Given the description of an element on the screen output the (x, y) to click on. 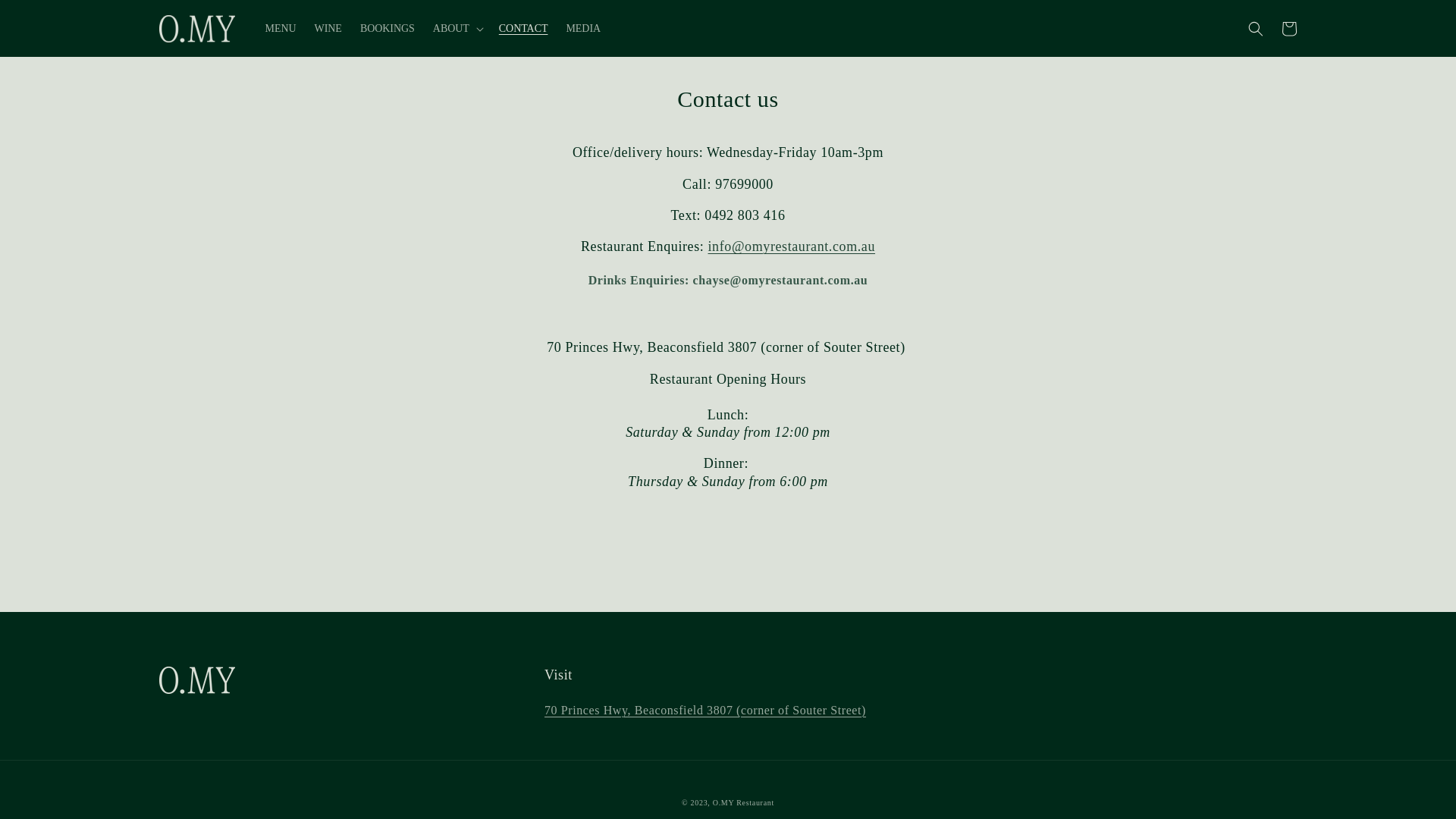
O.MY Restaurant Element type: text (743, 802)
Cart Element type: text (1288, 28)
info@omyrestaurant.com.au Element type: text (791, 246)
70 Princes Hwy, Beaconsfield 3807 (corner of Souter Street) Element type: text (705, 709)
BOOKINGS Element type: text (387, 27)
CONTACT Element type: text (523, 27)
MENU Element type: text (280, 27)
MEDIA Element type: text (582, 27)
WINE Element type: text (328, 27)
